Given the description of an element on the screen output the (x, y) to click on. 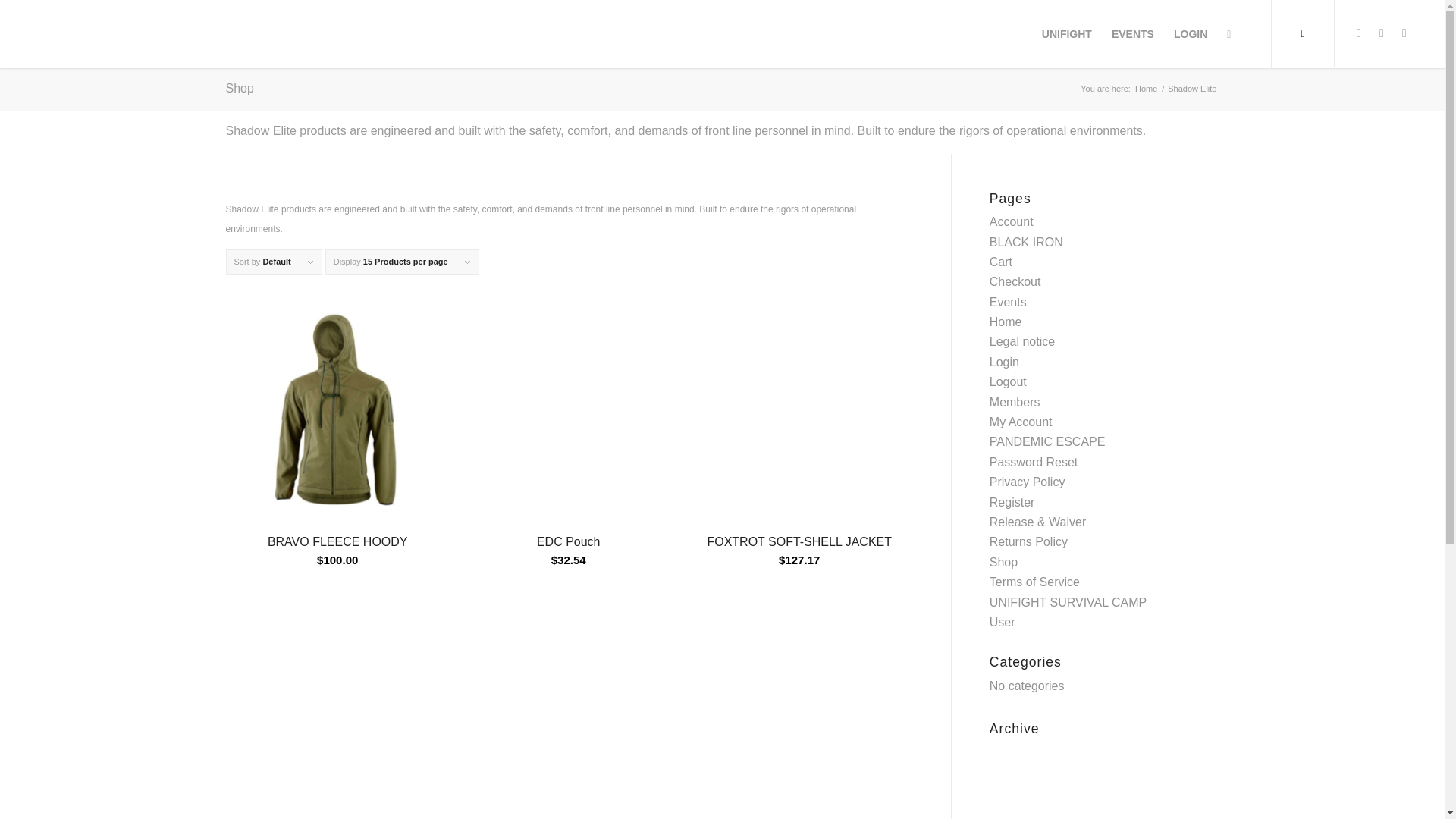
Youtube (1404, 33)
Instagram (1381, 33)
Permanent Link: Shop (239, 88)
Home (1145, 89)
UNIFIGHT (1067, 33)
LOGIN (1190, 33)
UNIFIGHT.CA (1145, 89)
Shop (239, 88)
EVENTS (1132, 33)
Facebook (1359, 33)
